Given the description of an element on the screen output the (x, y) to click on. 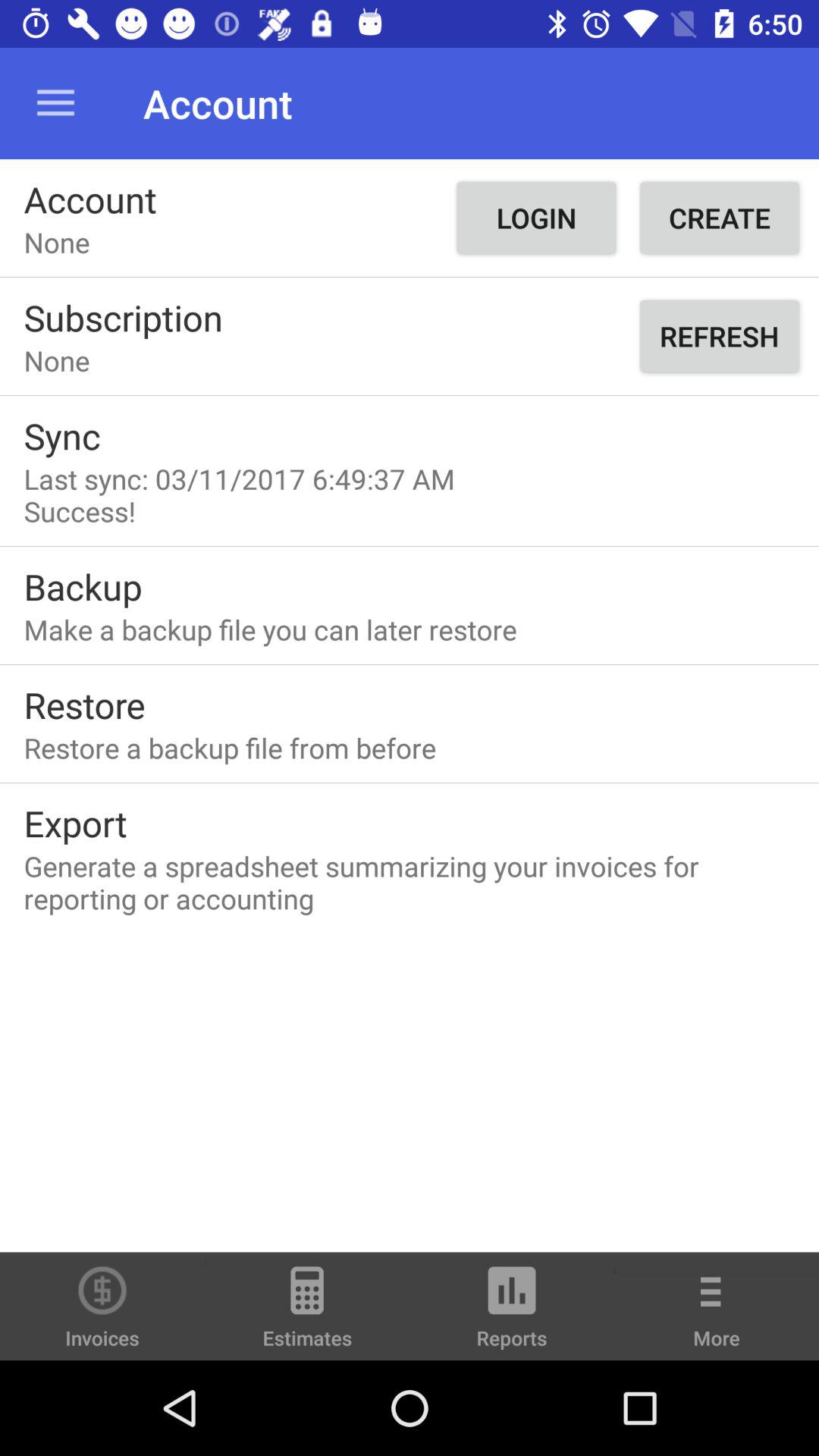
choose the item next to estimates icon (511, 1313)
